Given the description of an element on the screen output the (x, y) to click on. 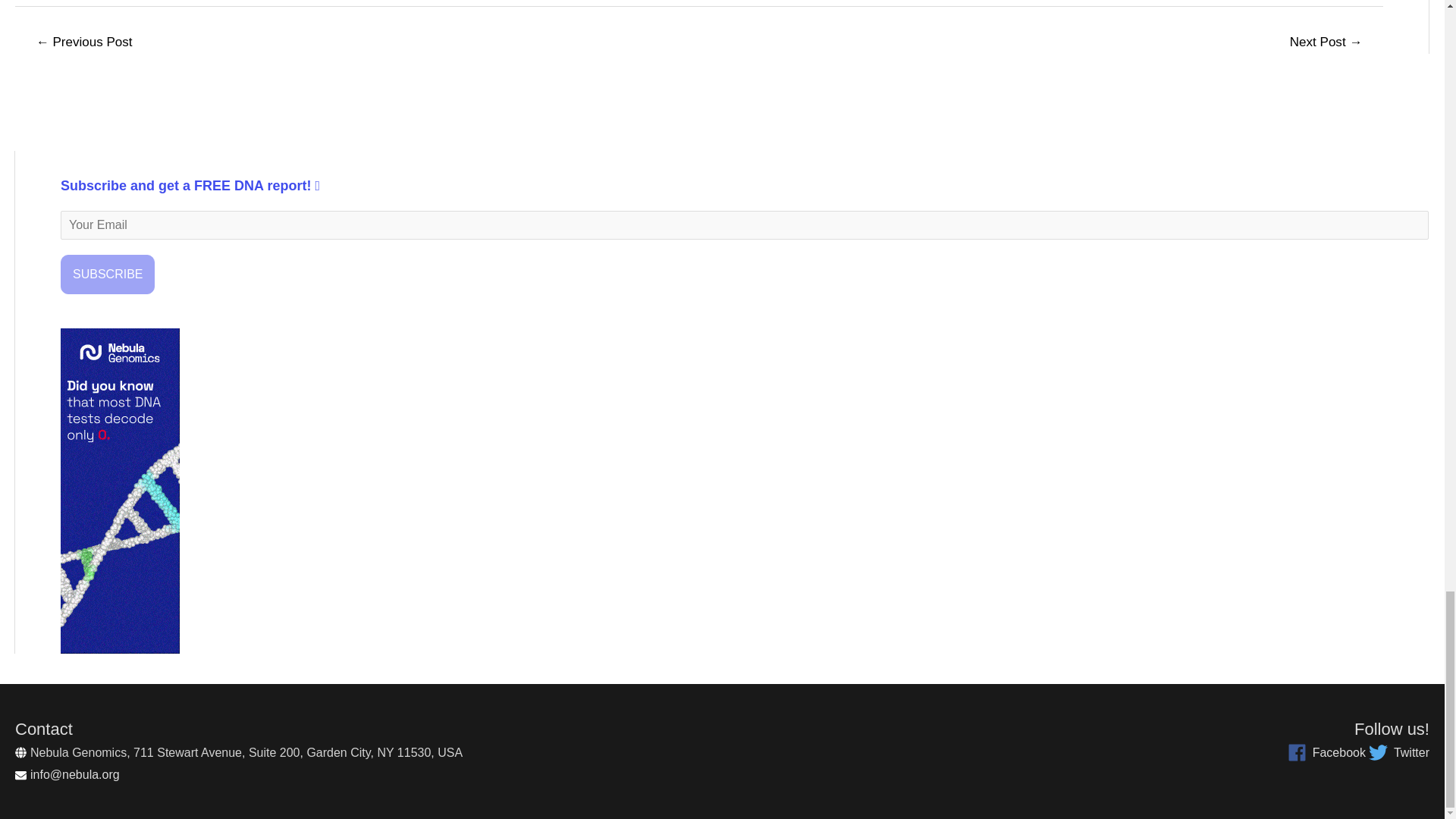
SUBSCRIBE (107, 274)
Twitter (1398, 753)
Facebook (1326, 753)
